Given the description of an element on the screen output the (x, y) to click on. 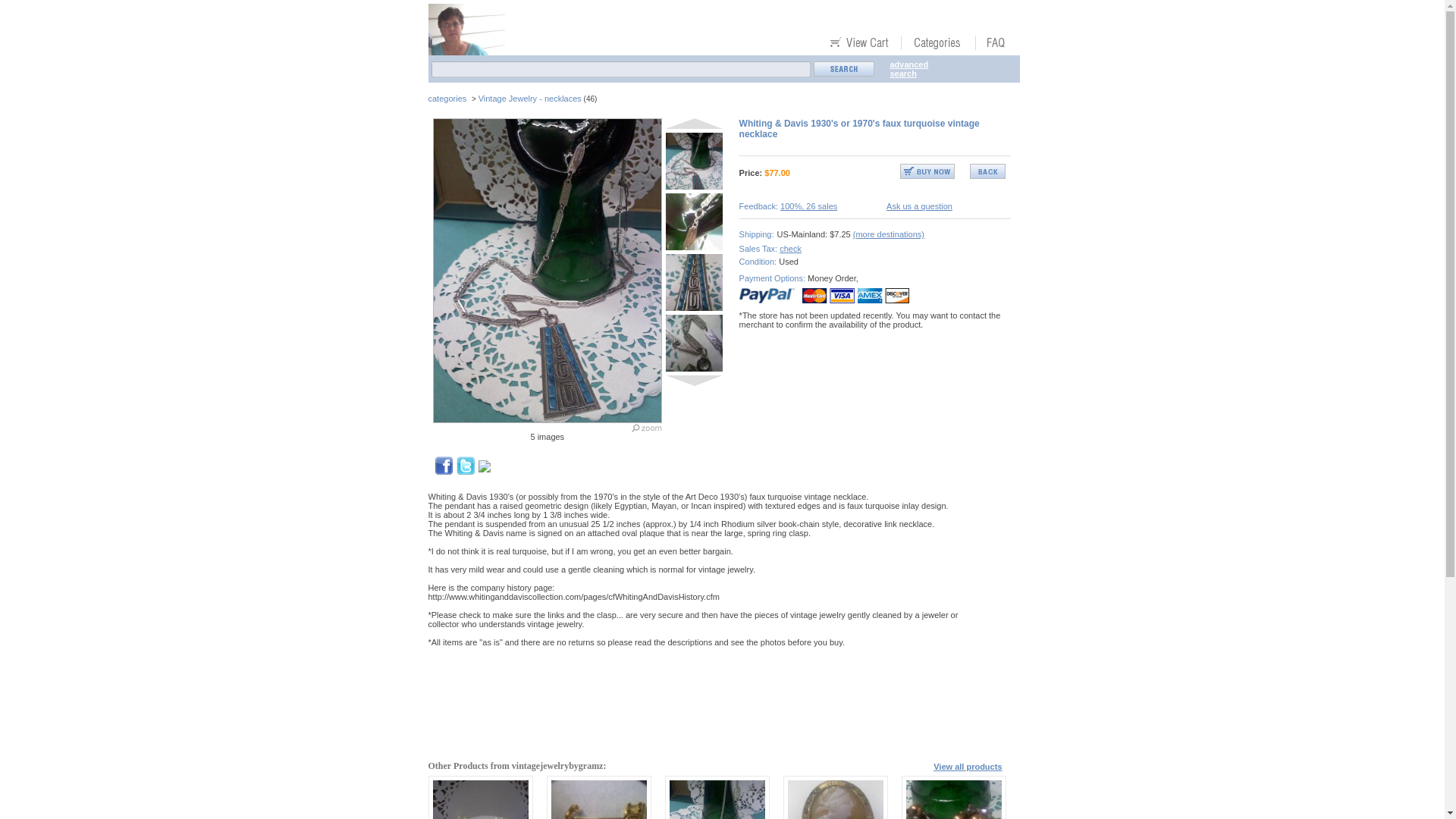
Vintage Jewelry - necklaces (529, 98)
advanced search (908, 68)
check (790, 248)
Avon "Young Reflections Telephone Pin" in goldtone 1981 (598, 799)
Ask us a question (919, 205)
categories (446, 98)
View all products (967, 765)
